Given the description of an element on the screen output the (x, y) to click on. 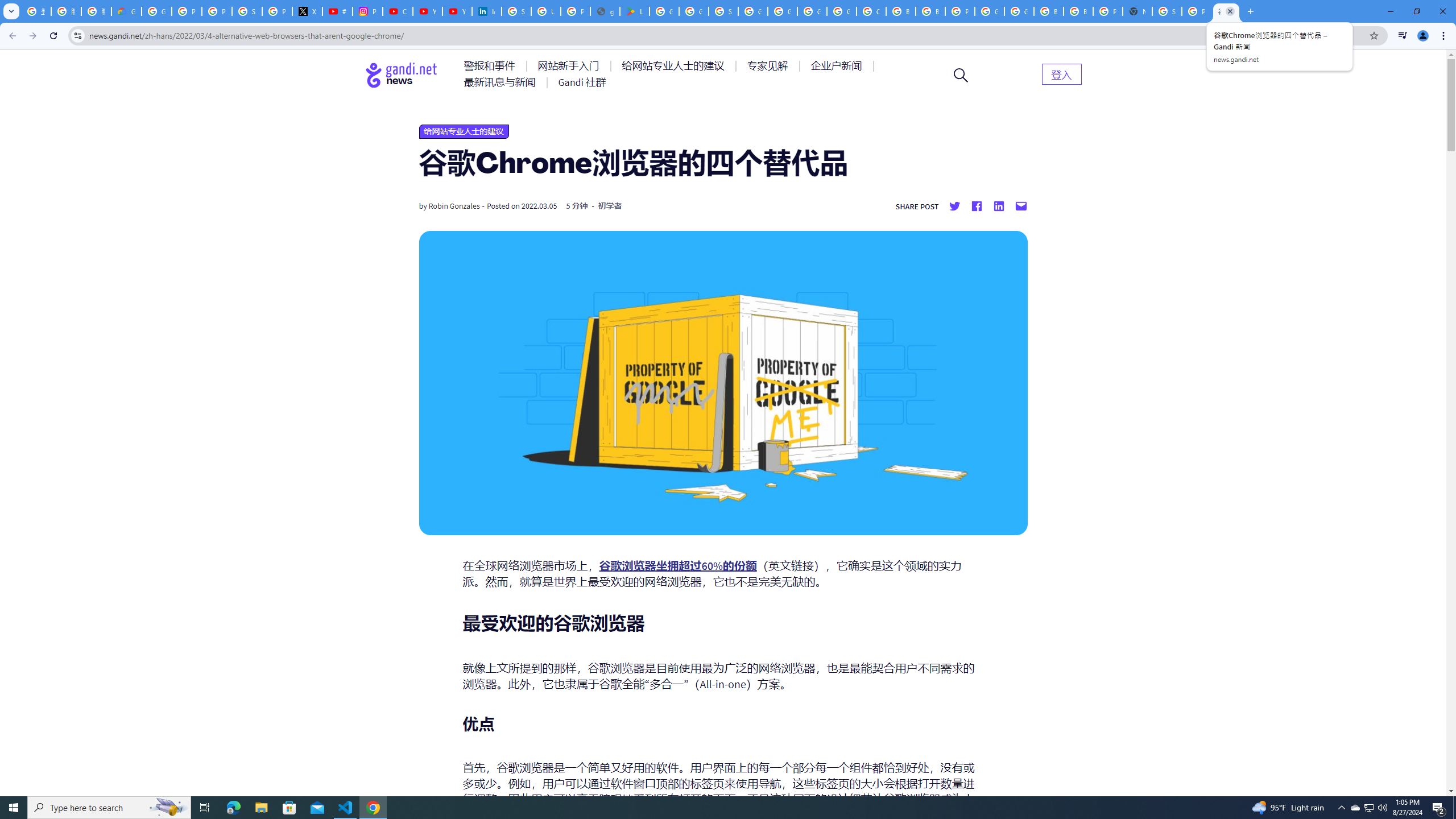
AutomationID: menu-item-77764 (769, 65)
Privacy Help Center - Policies Help (216, 11)
Browse Chrome as a guest - Computer - Google Chrome Help (1048, 11)
X (306, 11)
AutomationID: menu-item-82399 (1061, 73)
Google Workspace - Specific Terms (693, 11)
Last Shelter: Survival - Apps on Google Play (634, 11)
AutomationID: menu-item-77765 (838, 65)
Share by mail (1020, 205)
